Given the description of an element on the screen output the (x, y) to click on. 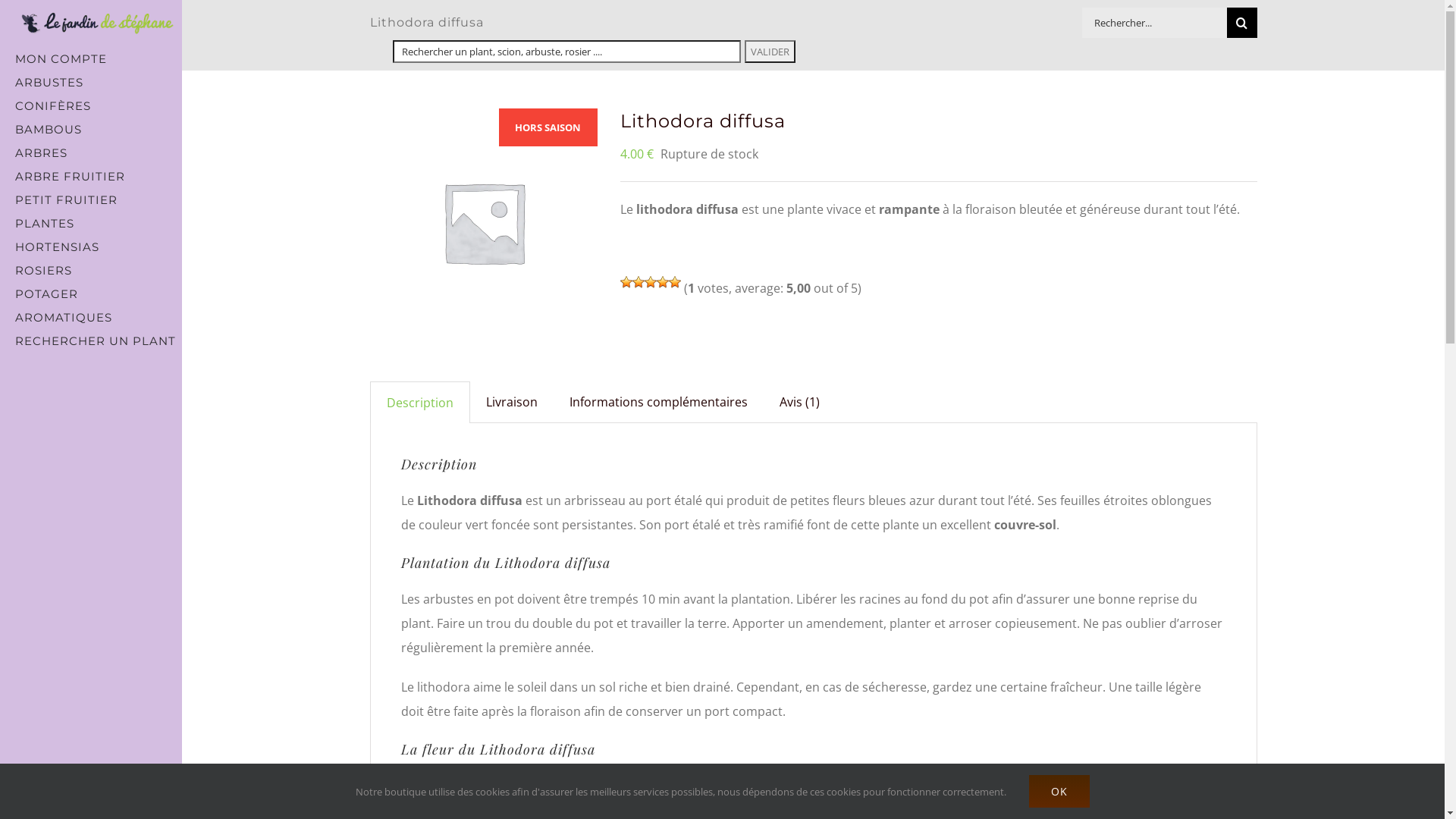
lithodora diffusa woocommerce placeholder Element type: hover (483, 120)
2 Stars Element type: hover (638, 282)
ARBUSTES Element type: text (90, 82)
OK Element type: text (1058, 791)
1 Star Element type: hover (626, 282)
ARBRES Element type: text (90, 152)
ROSIERS Element type: text (90, 270)
RECHERCHER UN PLANT Element type: text (90, 340)
4 Stars Element type: hover (662, 282)
PETIT FRUITIER Element type: text (90, 199)
POTAGER Element type: text (90, 293)
5 Stars Element type: hover (674, 282)
PLANTES Element type: text (90, 223)
HORTENSIAS Element type: text (90, 246)
Livraison Element type: text (511, 401)
Avis (1) Element type: text (798, 401)
MON COMPTE Element type: text (90, 58)
VALIDER Element type: text (769, 51)
Description Element type: text (419, 402)
BAMBOUS Element type: text (90, 129)
ARBRE FRUITIER Element type: text (90, 176)
AROMATIQUES Element type: text (90, 317)
3 Stars Element type: hover (650, 282)
